Given the description of an element on the screen output the (x, y) to click on. 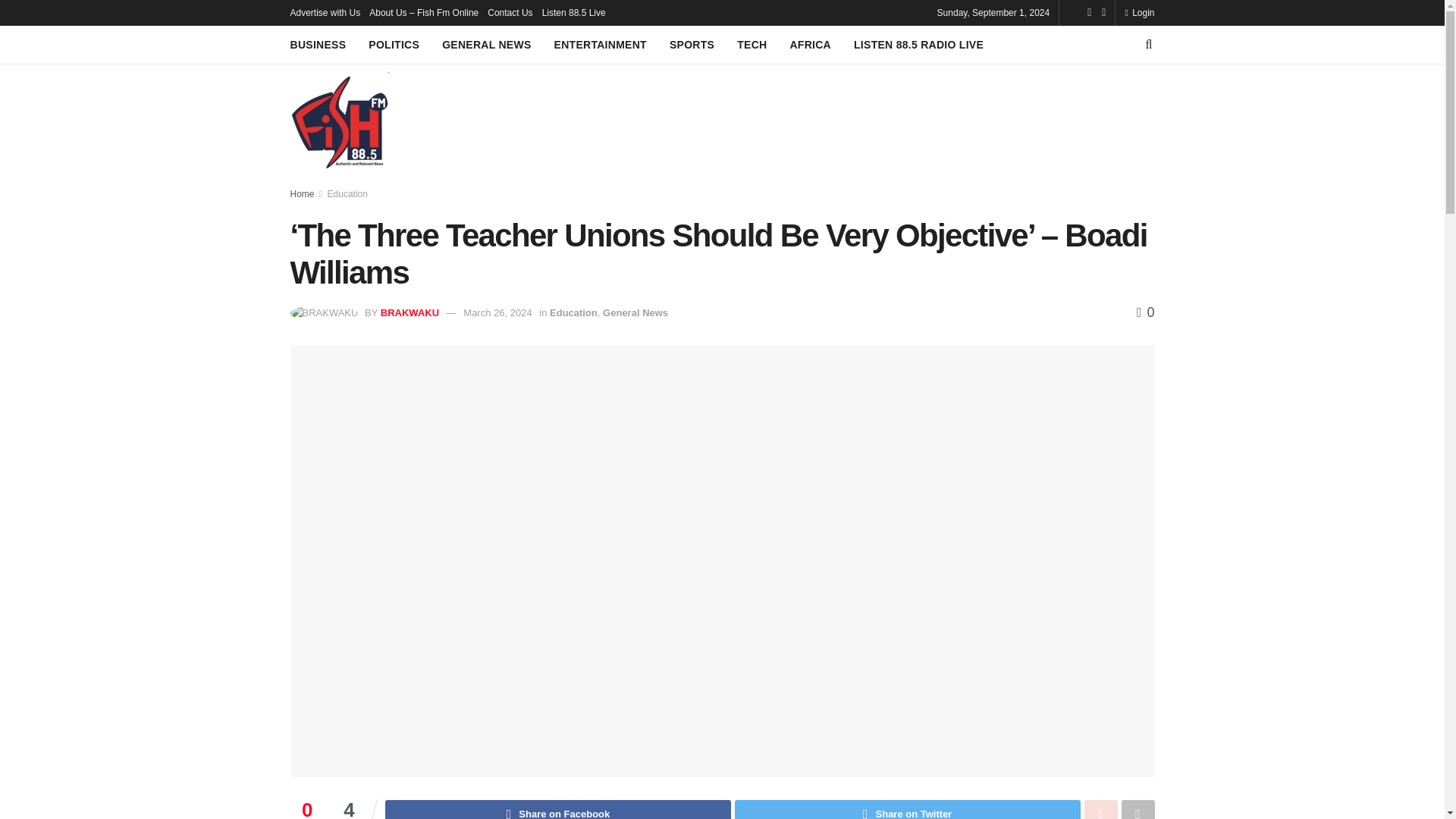
Login (1139, 12)
Home (301, 194)
POLITICS (393, 44)
General News (635, 312)
GENERAL NEWS (486, 44)
Education (347, 194)
0 (1145, 312)
AFRICA (810, 44)
Education (573, 312)
Contact Us (509, 12)
